Given the description of an element on the screen output the (x, y) to click on. 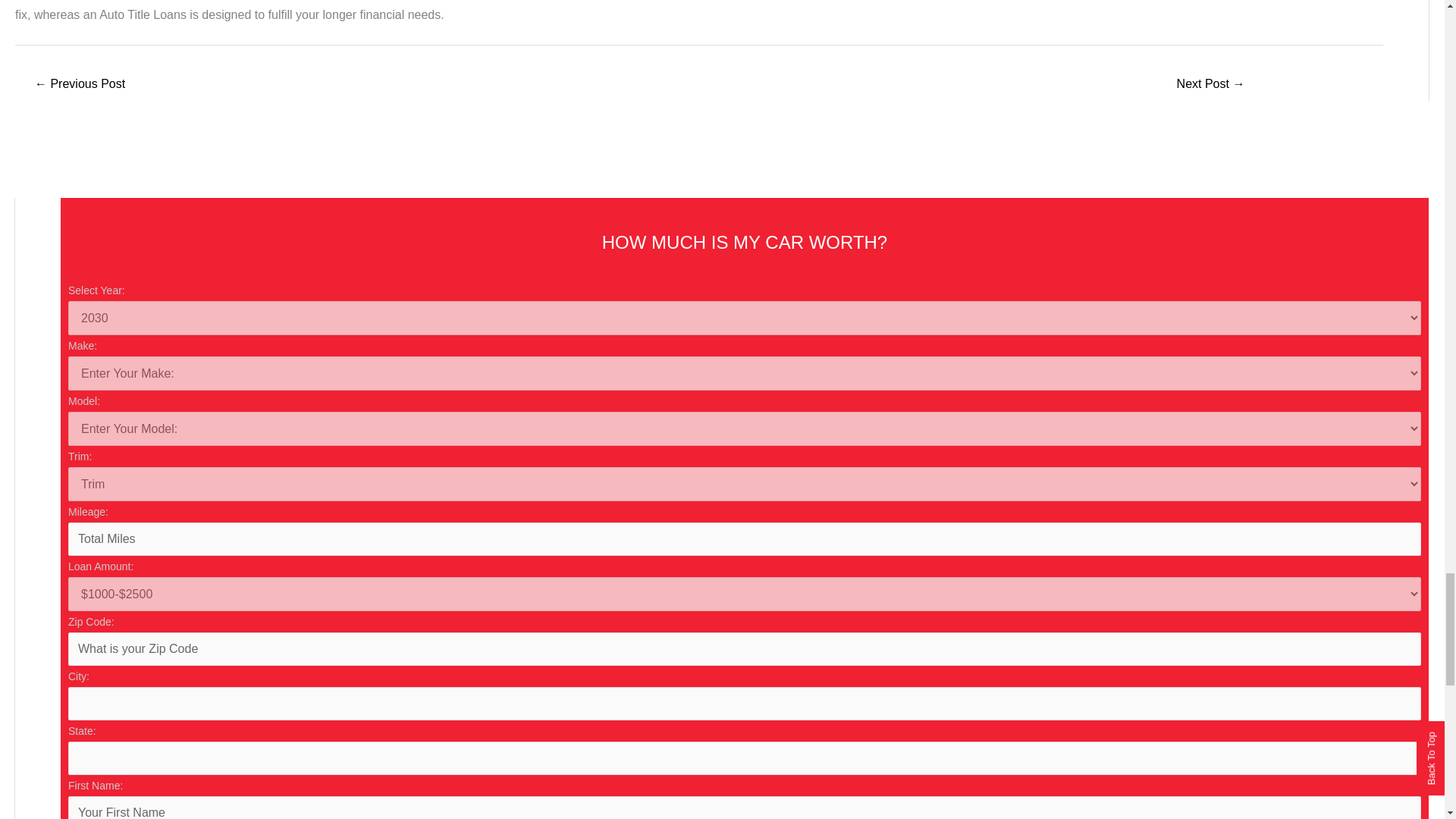
Car and Auto Title Loans Barstow CA (1210, 85)
What is your Zip Code (744, 648)
Your First Name (744, 807)
Car and Auto Title Loans Malibu CA (79, 85)
Total Miles (744, 539)
